Given the description of an element on the screen output the (x, y) to click on. 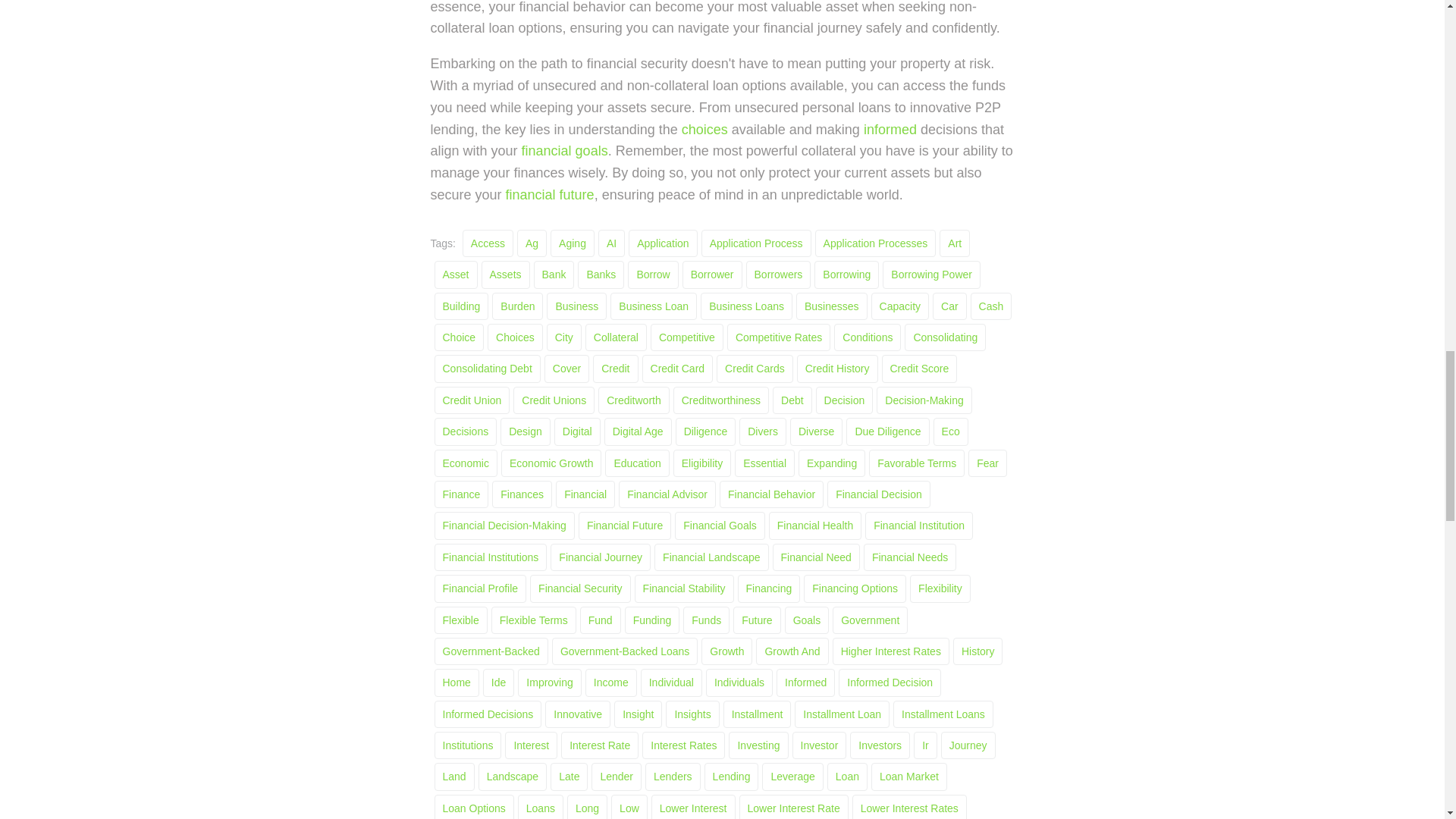
Posts tagged with financial future (549, 194)
Posts tagged with informed (890, 129)
Posts tagged with choices (704, 129)
Posts tagged with financial goals (564, 150)
